Given the description of an element on the screen output the (x, y) to click on. 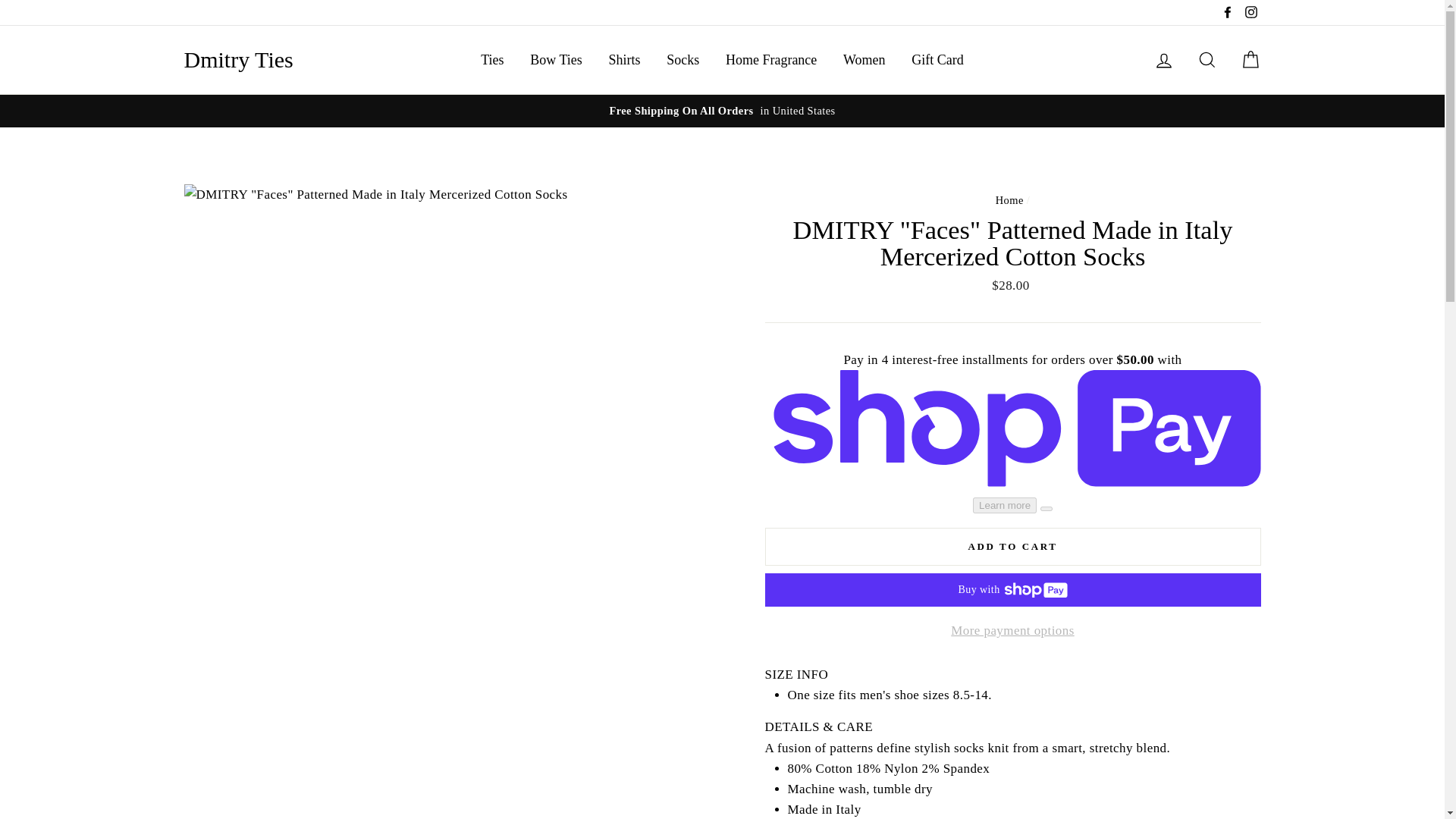
Facebook (1227, 12)
Dmitry Ties (237, 59)
Ties (491, 59)
Dmitry Ties on Facebook (1227, 12)
Bow Ties (556, 59)
Dmitry Ties on Instagram (1250, 12)
Instagram (1250, 12)
Back to the frontpage (1009, 200)
